Given the description of an element on the screen output the (x, y) to click on. 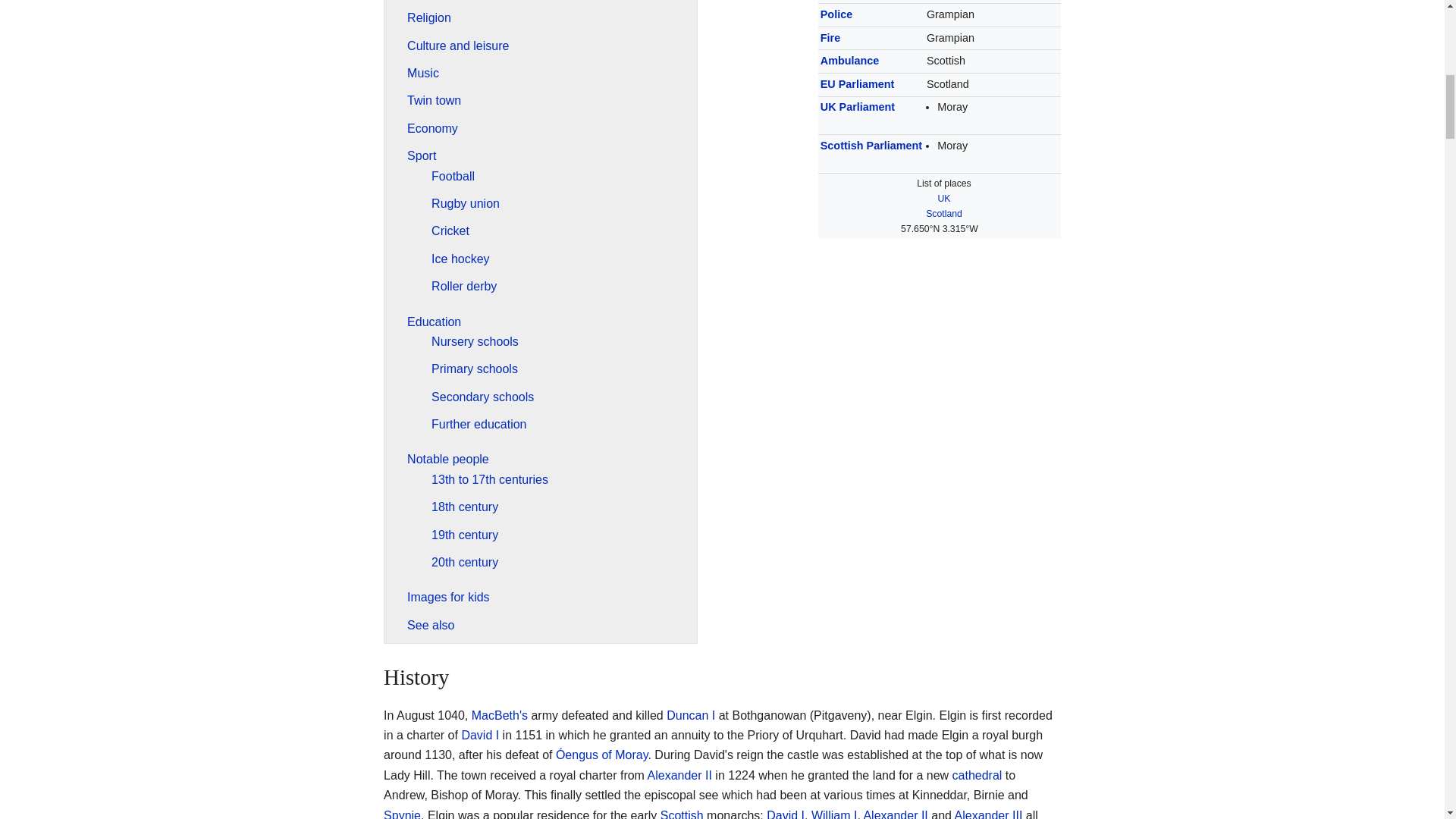
EU Parliament (858, 83)
Ambulance (850, 60)
Police (836, 14)
Fire (830, 37)
UK Parliament (858, 106)
Scotland (944, 213)
Scottish Parliament (871, 145)
UK (943, 198)
List of law enforcement agencies in the United Kingdom (836, 14)
